Given the description of an element on the screen output the (x, y) to click on. 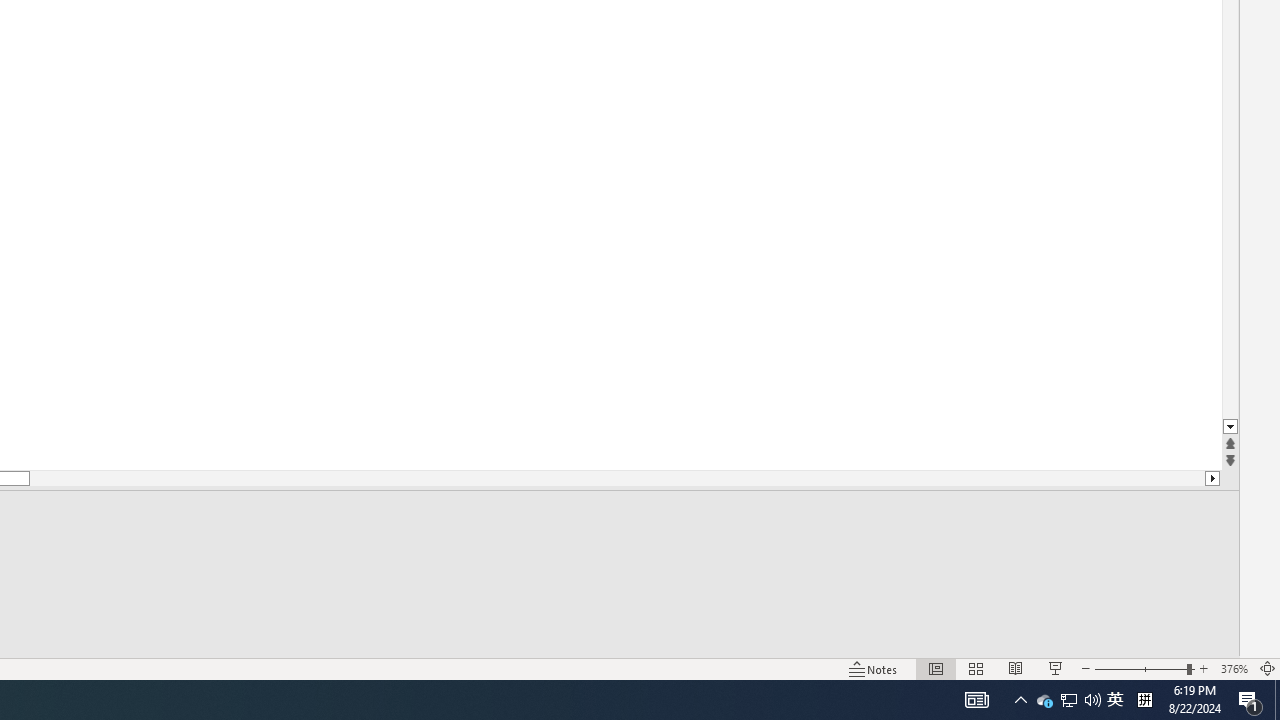
Line down (1230, 427)
Zoom 376% (1234, 668)
Notes  (874, 668)
